Given the description of an element on the screen output the (x, y) to click on. 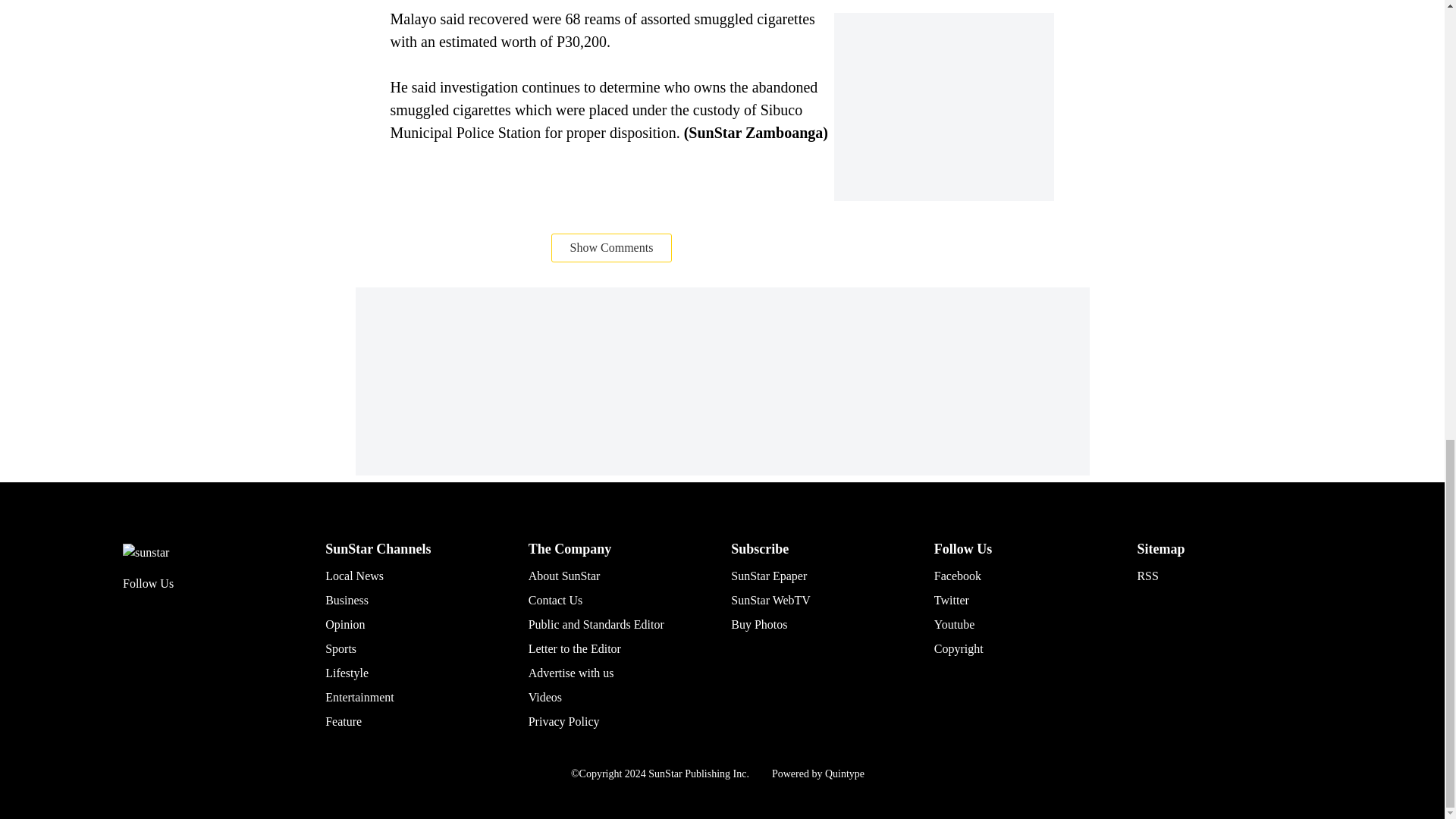
Lifestyle (346, 672)
Business (346, 599)
Show Comments (611, 246)
Opinion (344, 624)
Local News (354, 575)
Sports (340, 648)
